Given the description of an element on the screen output the (x, y) to click on. 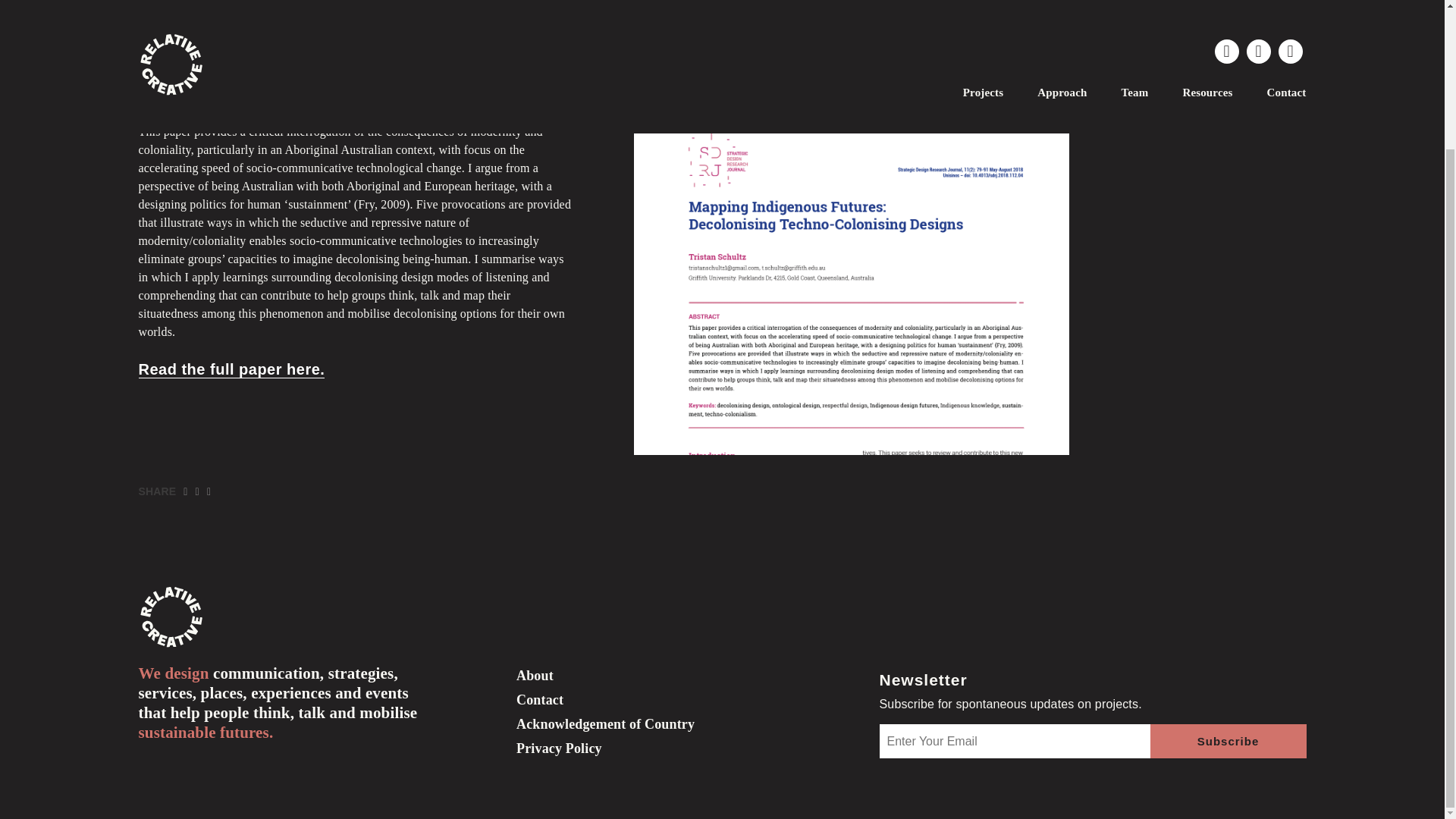
Read the full paper here. (231, 369)
Resources (211, 0)
Home (156, 0)
Privacy Policy (559, 748)
Subscribe (1228, 740)
Contact (539, 699)
About (534, 675)
Acknowledgement of Country (605, 724)
Subscribe (1228, 740)
